Given the description of an element on the screen output the (x, y) to click on. 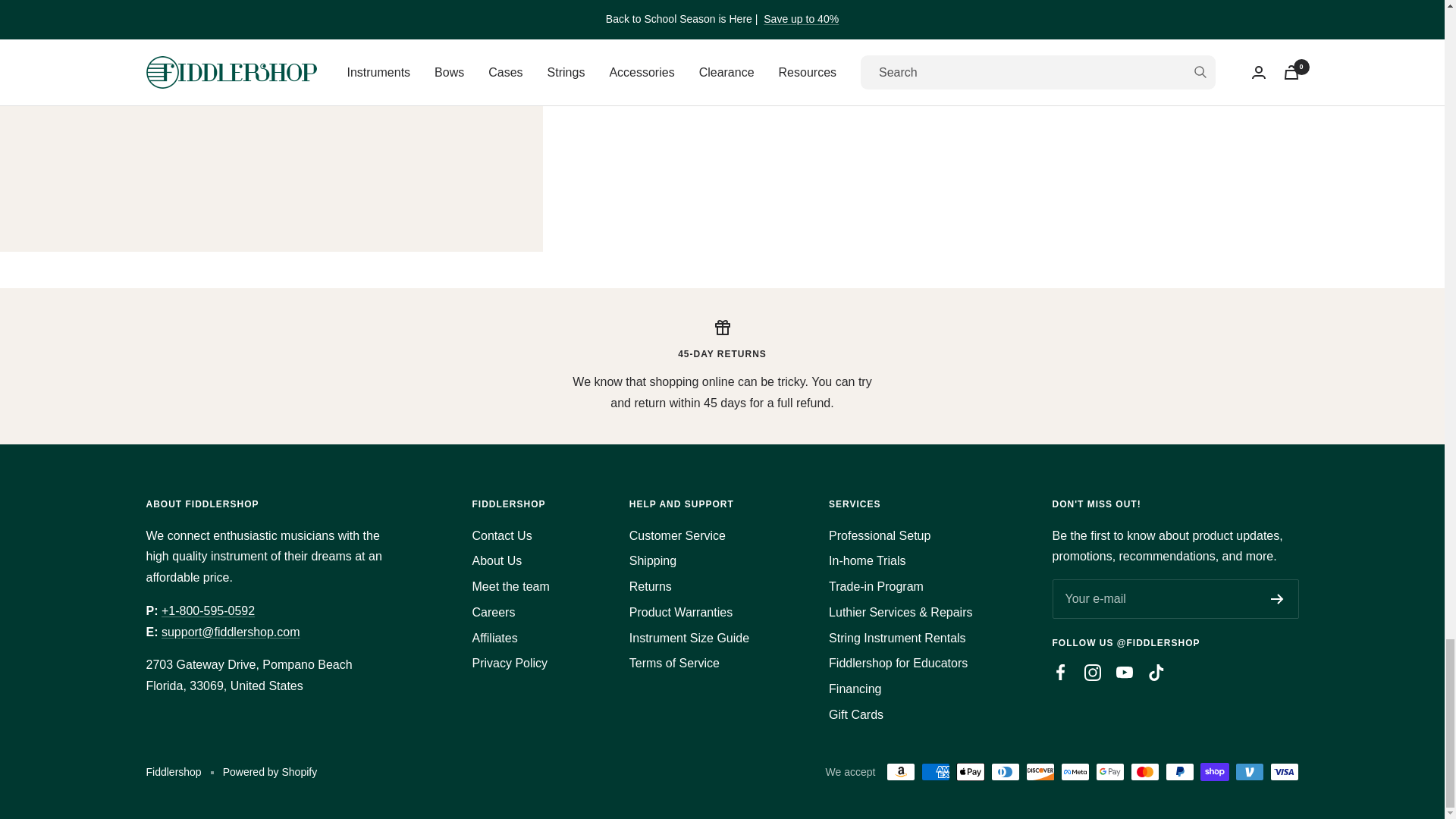
Fiddlershop Customer Support Email (230, 631)
Register (1277, 598)
tel:18005950592 (207, 610)
